Given the description of an element on the screen output the (x, y) to click on. 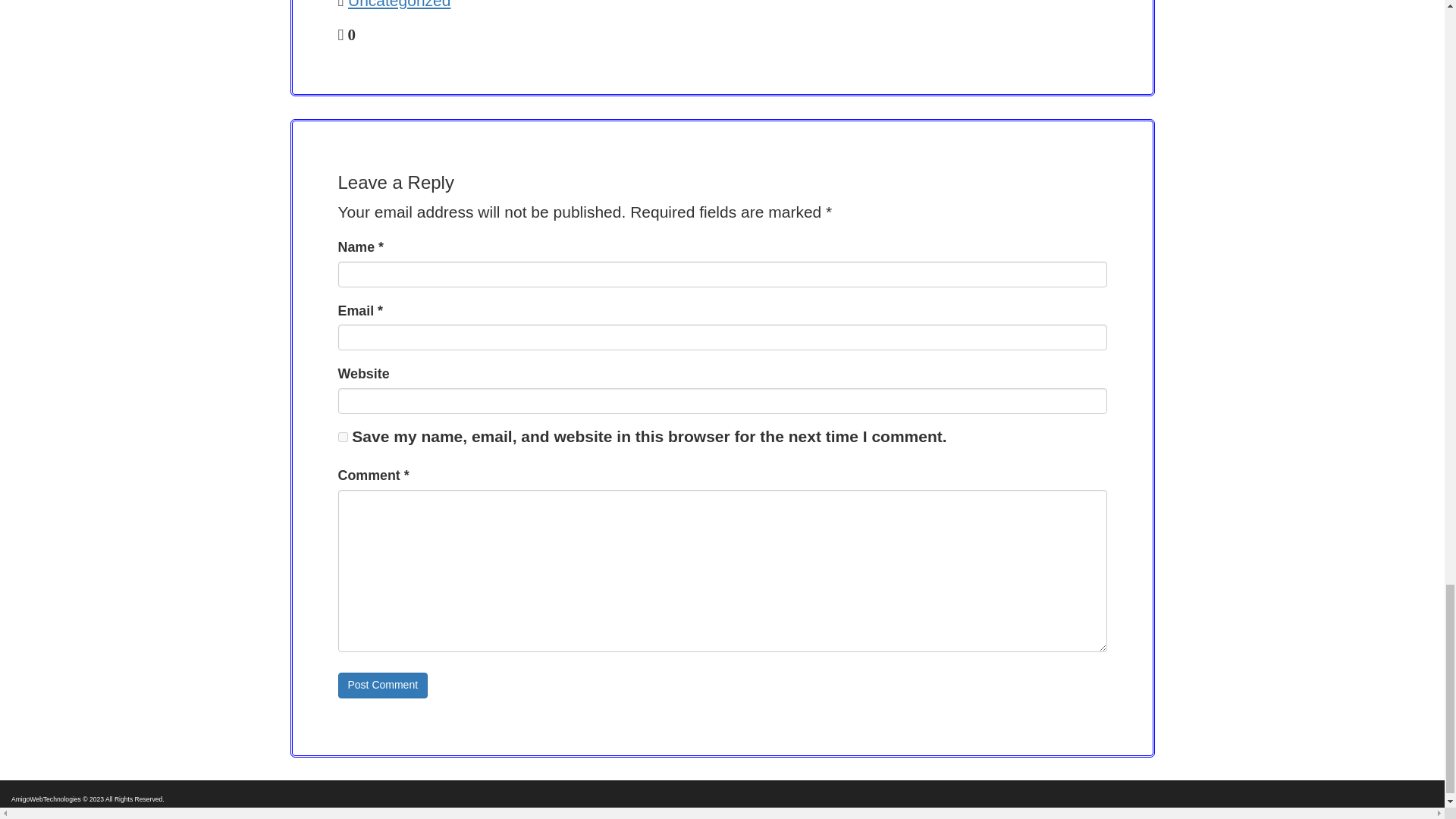
Post Comment (382, 685)
Post Comment (382, 685)
yes (342, 437)
Uncategorized (398, 4)
